Given the description of an element on the screen output the (x, y) to click on. 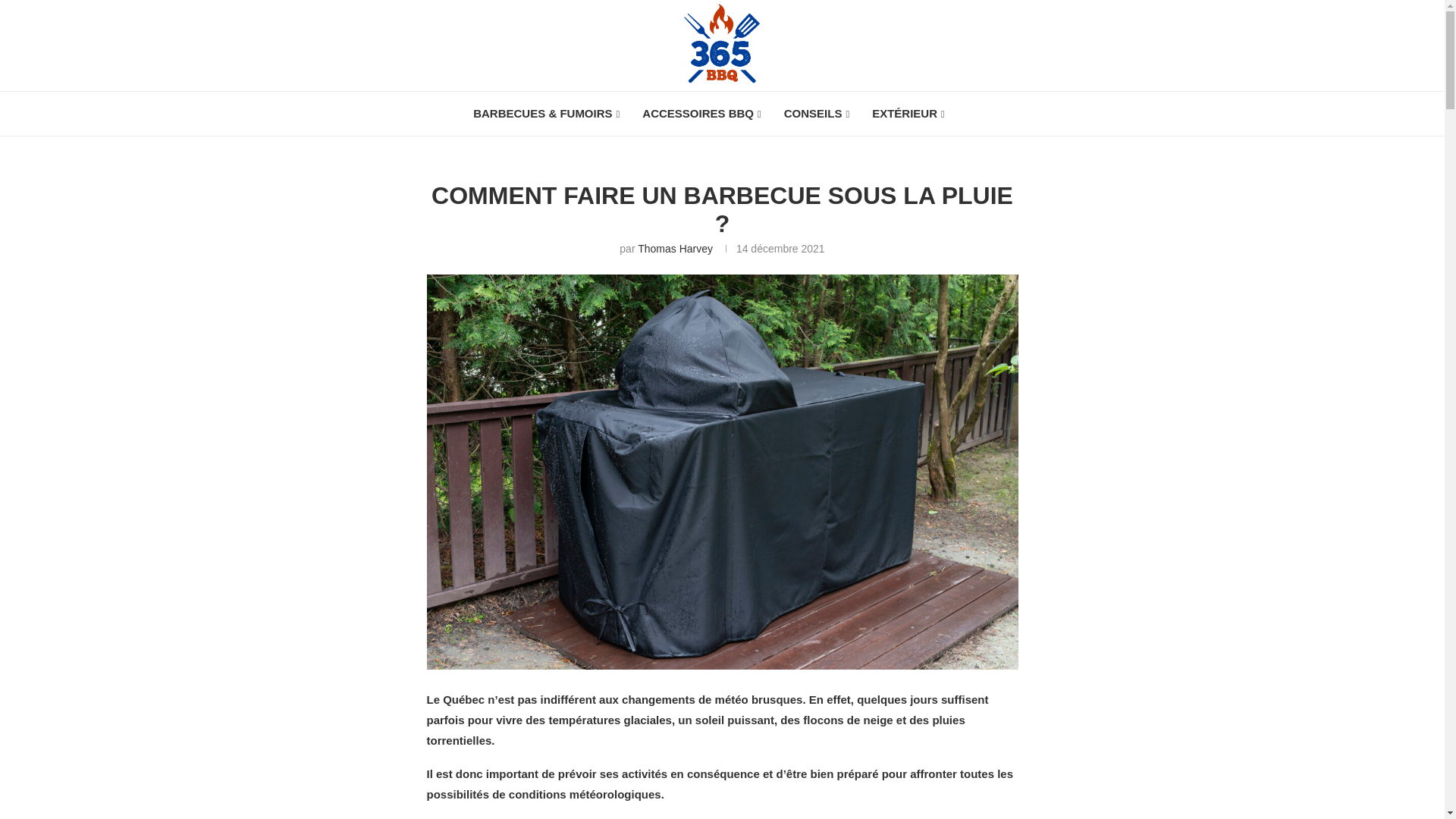
ACCESSOIRES BBQ Element type: text (701, 113)
Housse de barbecue sous la pluie Element type: hover (721, 471)
BARBECUES & FUMOIRS Element type: text (546, 113)
Thomas Harvey Element type: text (674, 248)
CONSEILS Element type: text (816, 113)
